Given the description of an element on the screen output the (x, y) to click on. 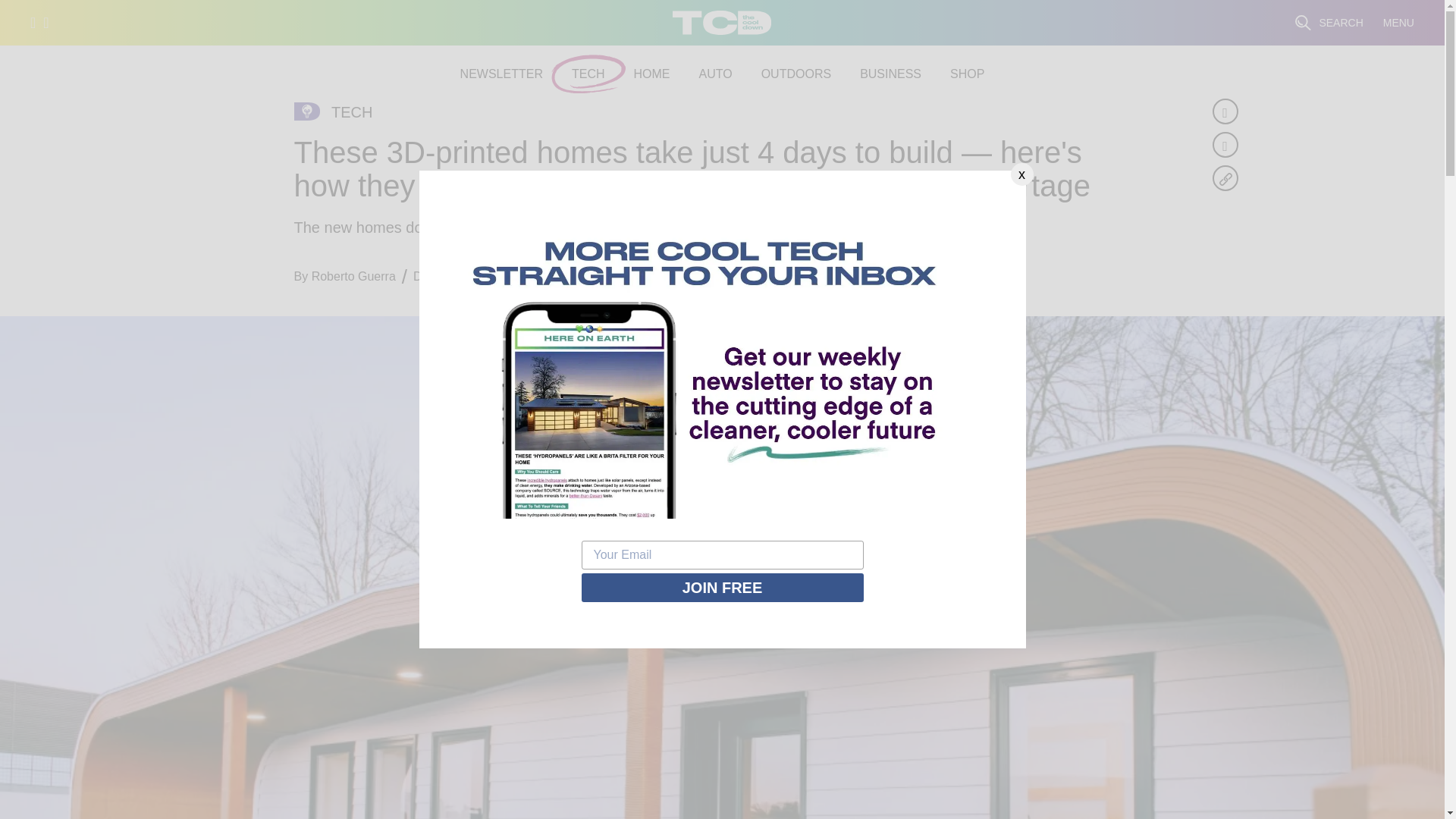
SHOP (967, 73)
NEWSLETTER (501, 73)
MENU (1398, 22)
HOME (651, 73)
Twitter (1224, 144)
OUTDOORS (796, 73)
Join Free (721, 587)
Facebook (1224, 111)
AUTO (715, 73)
TECH (588, 73)
SEARCH (1328, 22)
BUSINESS (890, 73)
